Given the description of an element on the screen output the (x, y) to click on. 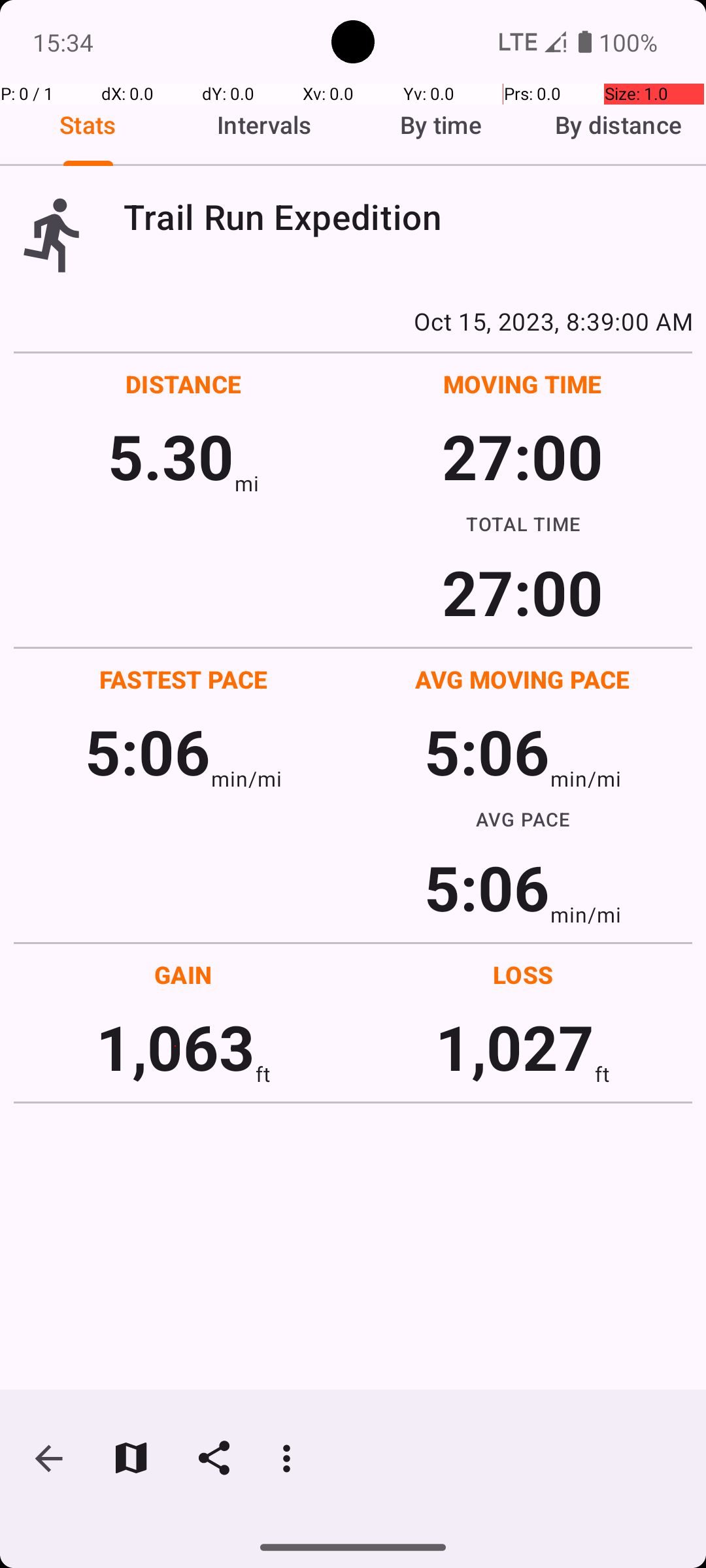
Trail Run Expedition Element type: android.widget.TextView (407, 216)
Oct 15, 2023, 8:39:00 AM Element type: android.widget.TextView (352, 320)
5.30 Element type: android.widget.TextView (170, 455)
27:00 Element type: android.widget.TextView (522, 455)
5:06 Element type: android.widget.TextView (147, 750)
1,063 Element type: android.widget.TextView (175, 1045)
1,027 Element type: android.widget.TextView (514, 1045)
